Given the description of an element on the screen output the (x, y) to click on. 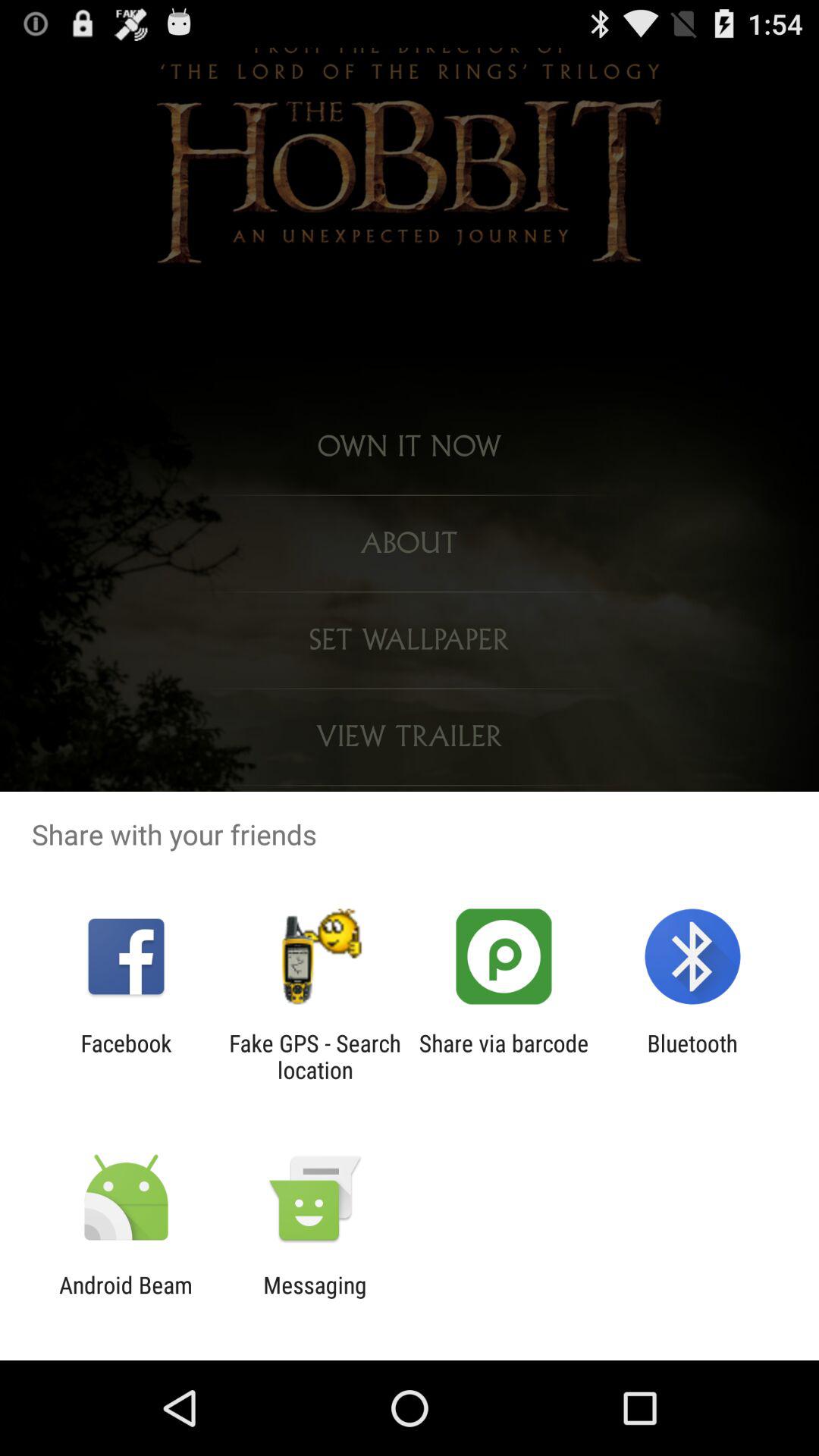
tap the messaging icon (314, 1298)
